Given the description of an element on the screen output the (x, y) to click on. 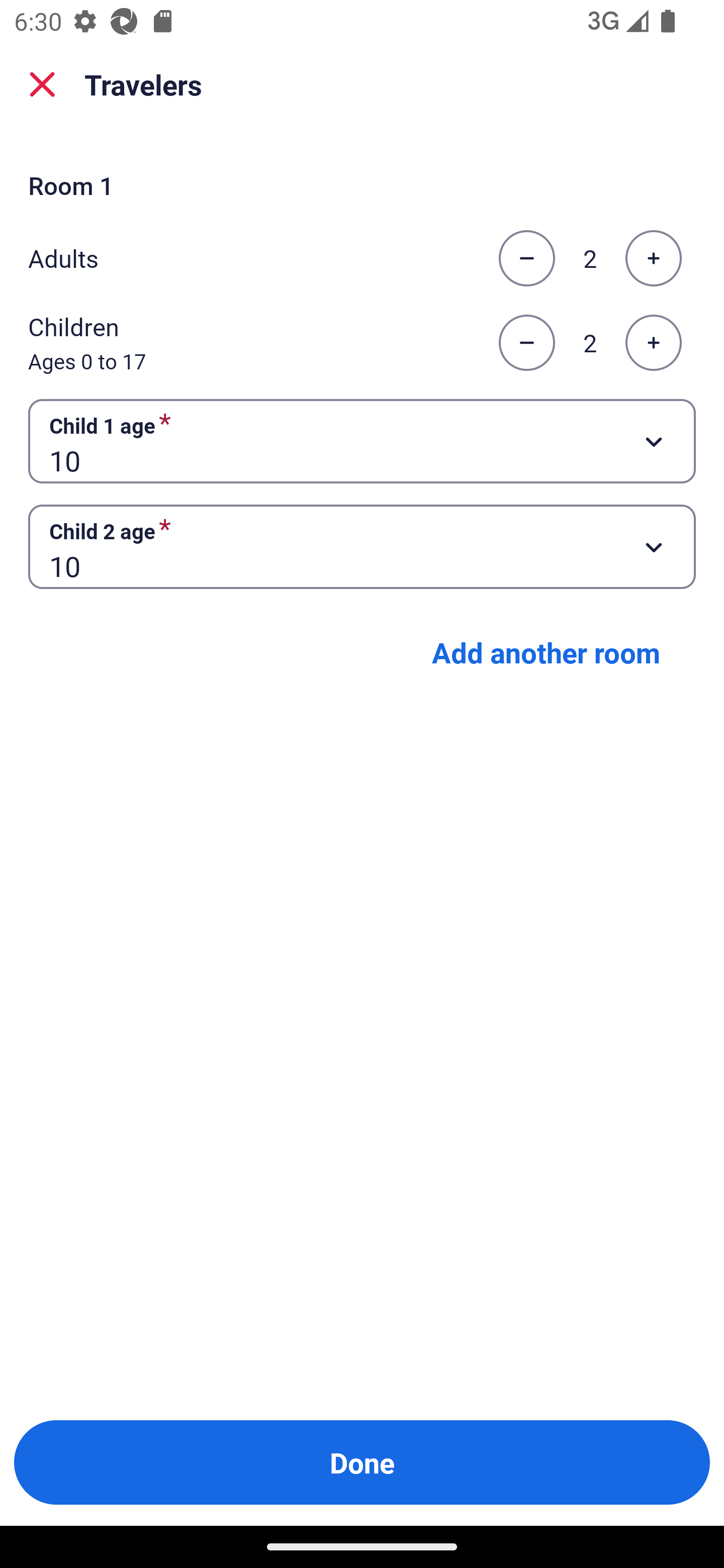
close (42, 84)
Decrease the number of adults (526, 258)
Increase the number of adults (653, 258)
Decrease the number of children (526, 343)
Increase the number of children (653, 343)
Child 1 age required Button 10 (361, 440)
Child 2 age required Button 10 (361, 546)
Add another room (545, 651)
Done (361, 1462)
